Given the description of an element on the screen output the (x, y) to click on. 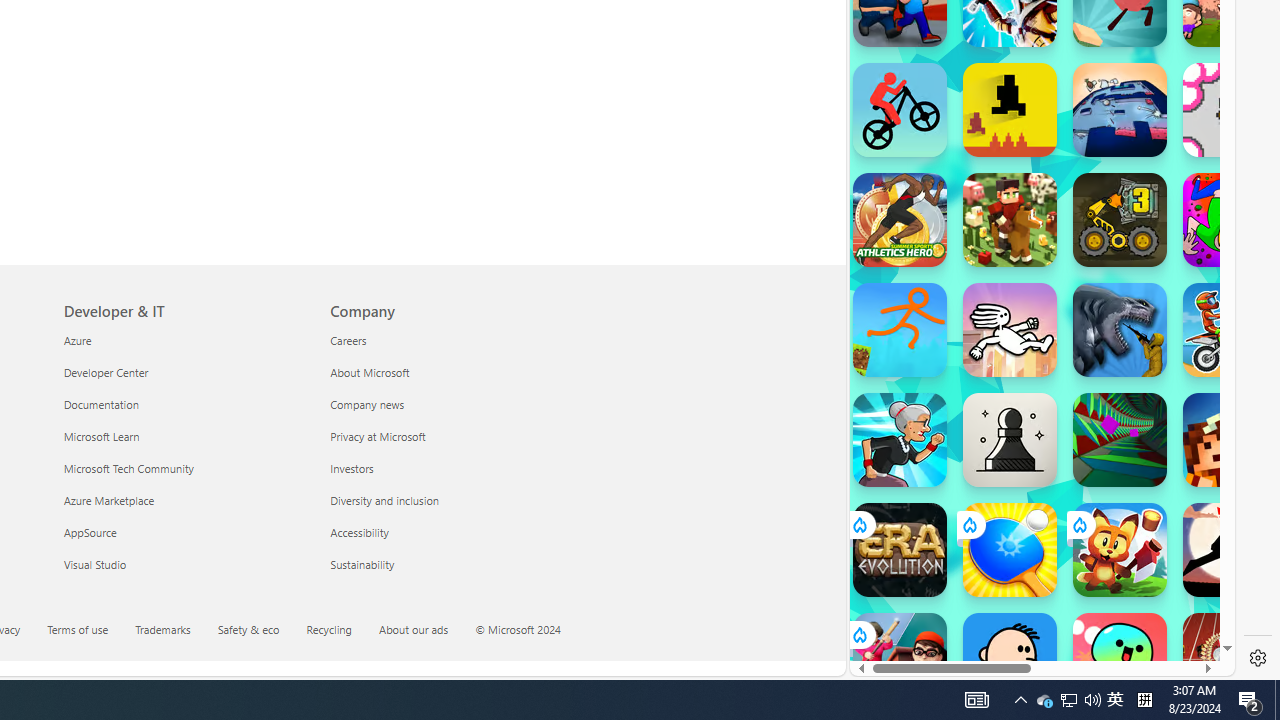
Lurkers.io Lurkers.io (1229, 439)
Microsoft Learn Developer & IT (100, 435)
AppSource (184, 532)
Company news (451, 404)
Angry Gran Run (899, 439)
Big Tower Tiny Square Big Tower Tiny Square (1119, 109)
BoxRob 3 BoxRob 3 (1119, 219)
Careers (451, 340)
100 Metres Race 100 Metres Race (1229, 659)
Privacy at Microsoft (451, 435)
Classic Chess Classic Chess (1009, 439)
Dreadhead Parkour Dreadhead Parkour (1009, 329)
Microsoft Learn (184, 435)
The Speed Ninja (1229, 549)
